Given the description of an element on the screen output the (x, y) to click on. 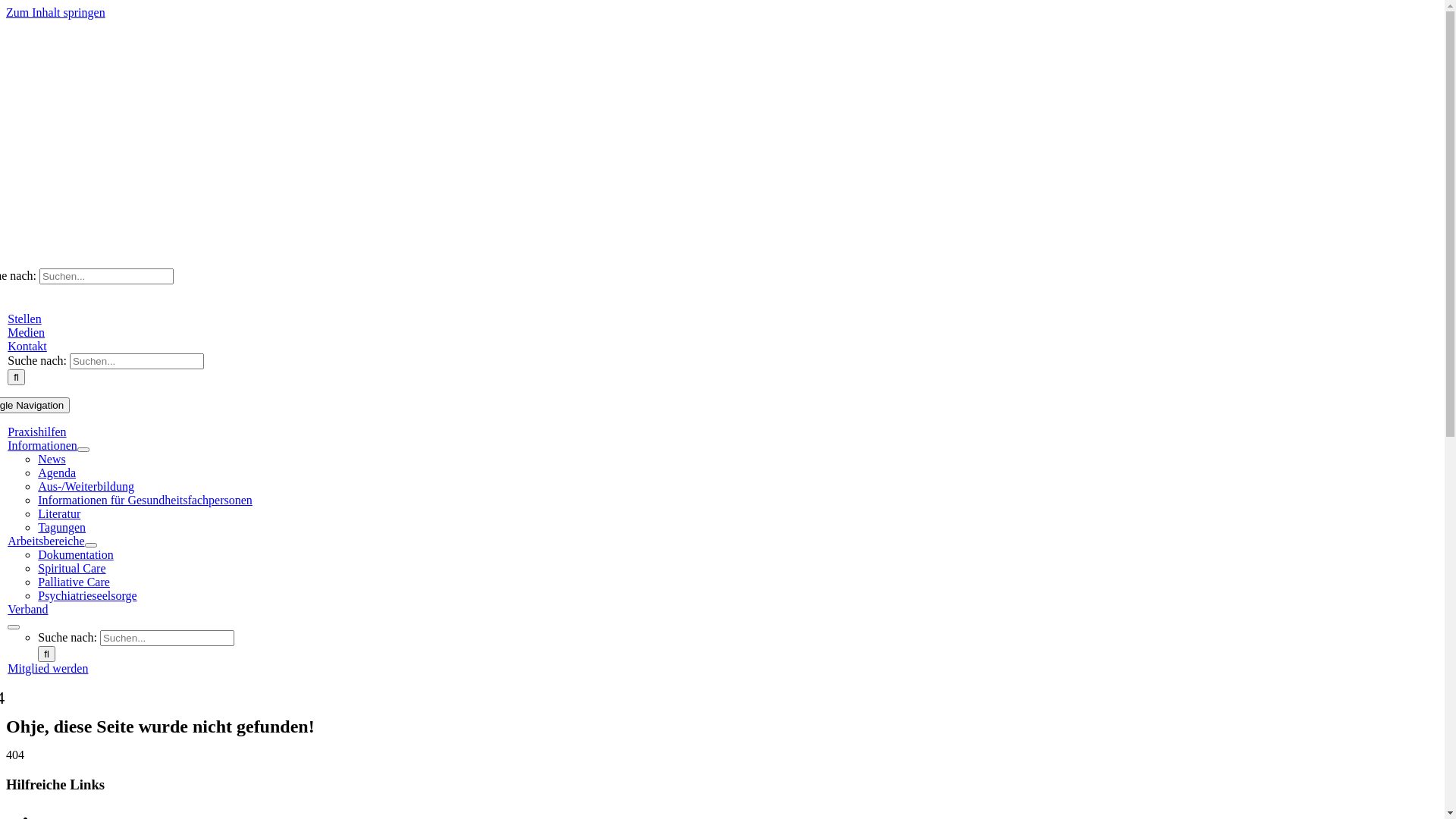
Dokumentation Element type: text (75, 554)
Medien Element type: text (25, 332)
Kontakt Element type: text (27, 345)
Informationen Element type: text (42, 445)
Tagungen Element type: text (61, 526)
Agenda Element type: text (56, 472)
Spiritual Care Element type: text (71, 567)
Mitglied werden Element type: text (47, 668)
Praxishilfen Element type: text (36, 431)
Zum Inhalt springen Element type: text (55, 12)
News Element type: text (51, 458)
Literatur Element type: text (58, 513)
Psychiatrieseelsorge Element type: text (86, 595)
Aus-/Weiterbildung Element type: text (85, 486)
Arbeitsbereiche Element type: text (45, 540)
Verband Element type: text (27, 608)
Stellen Element type: text (23, 318)
Palliative Care Element type: text (73, 581)
